Given the description of an element on the screen output the (x, y) to click on. 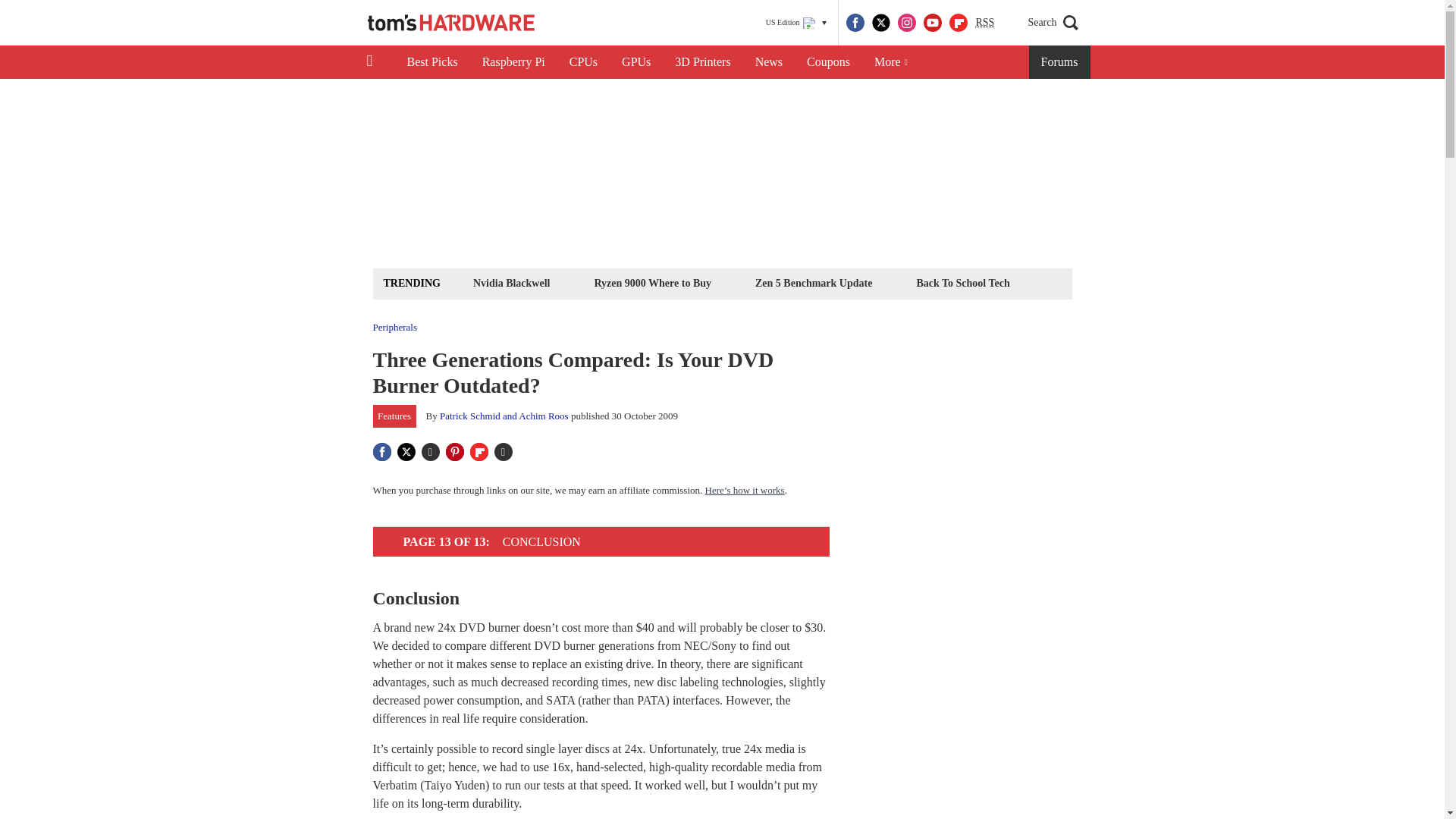
Best Picks (431, 61)
US Edition (796, 22)
Forums (1059, 61)
Raspberry Pi (513, 61)
CPUs (583, 61)
Really Simple Syndication (984, 21)
Coupons (827, 61)
GPUs (636, 61)
RSS (984, 22)
News (768, 61)
